Given the description of an element on the screen output the (x, y) to click on. 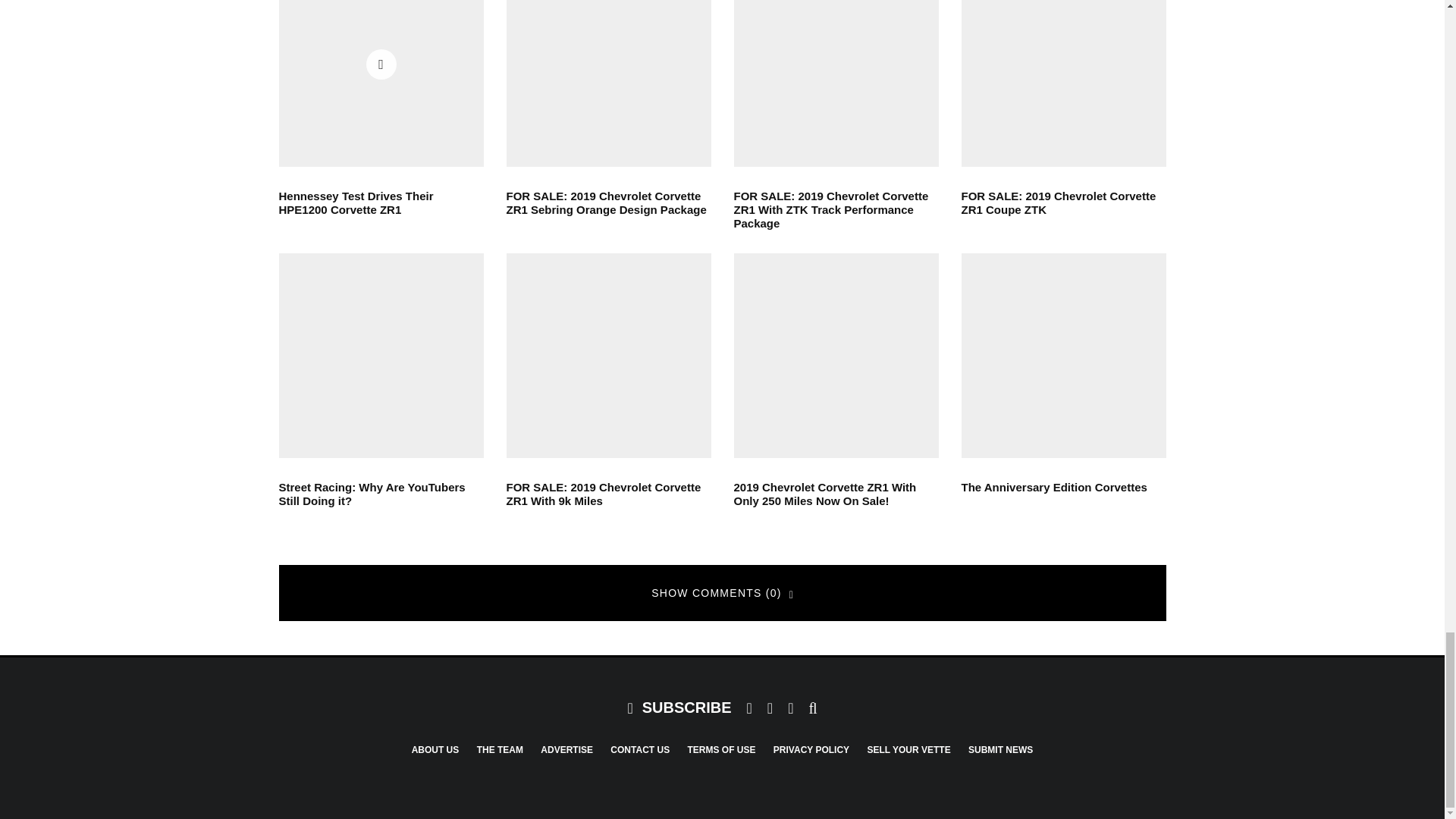
maxresdefault (381, 83)
street racing try (381, 355)
